Given the description of an element on the screen output the (x, y) to click on. 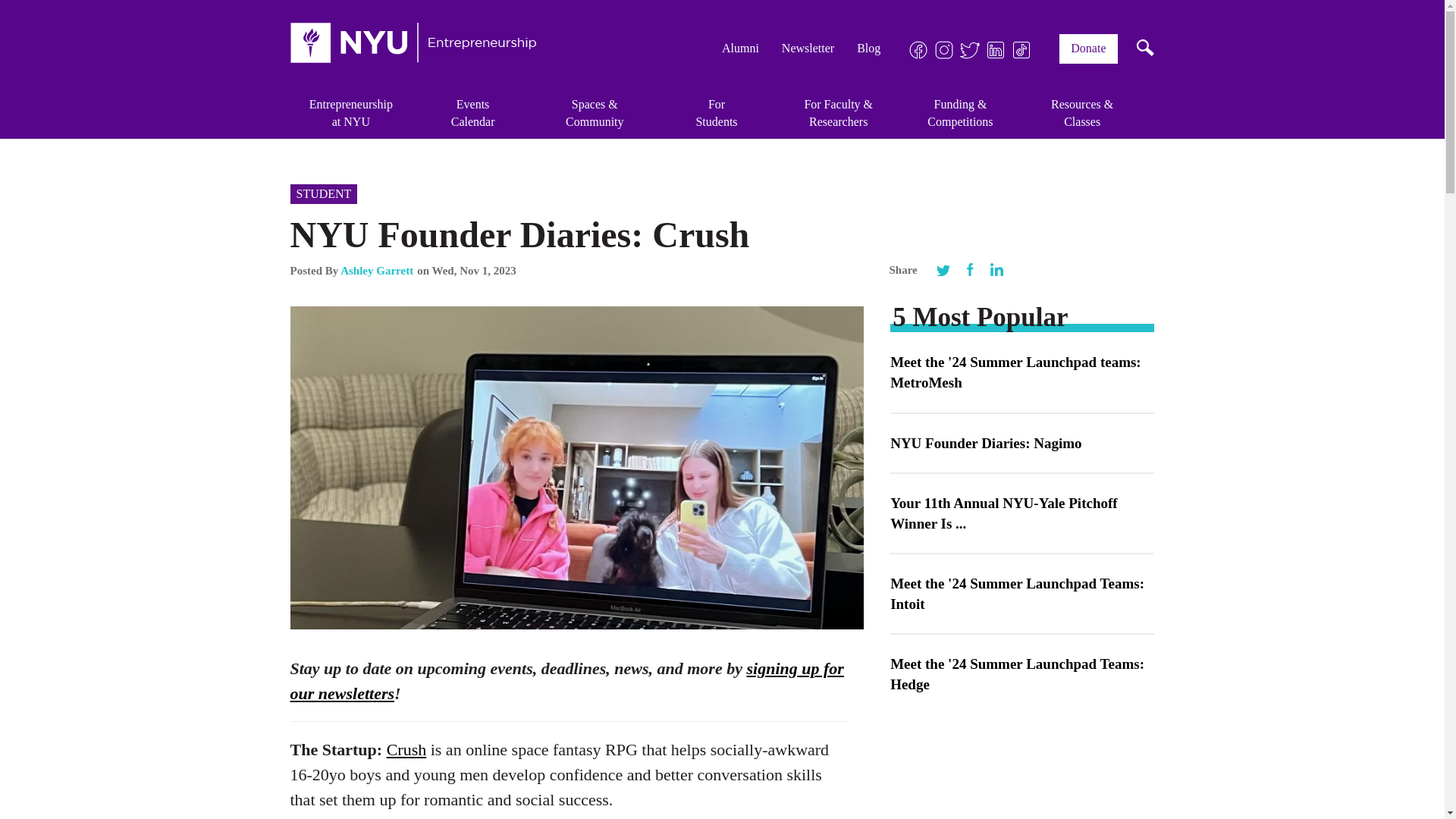
Alumni (740, 48)
Donate (1087, 48)
Blog (350, 113)
Newsletter (473, 113)
